Given the description of an element on the screen output the (x, y) to click on. 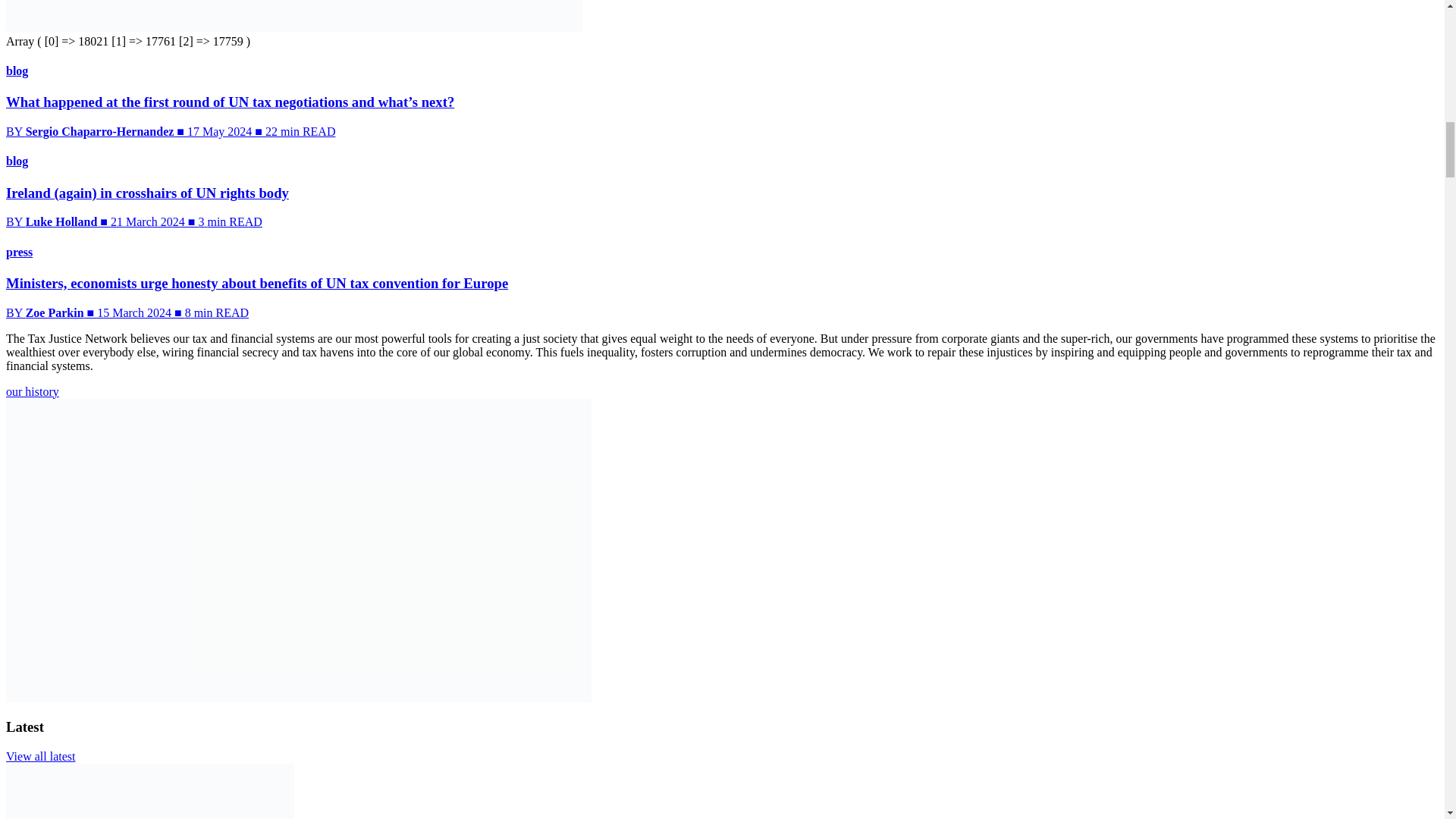
newspaper (293, 15)
View all latest (40, 756)
